Given the description of an element on the screen output the (x, y) to click on. 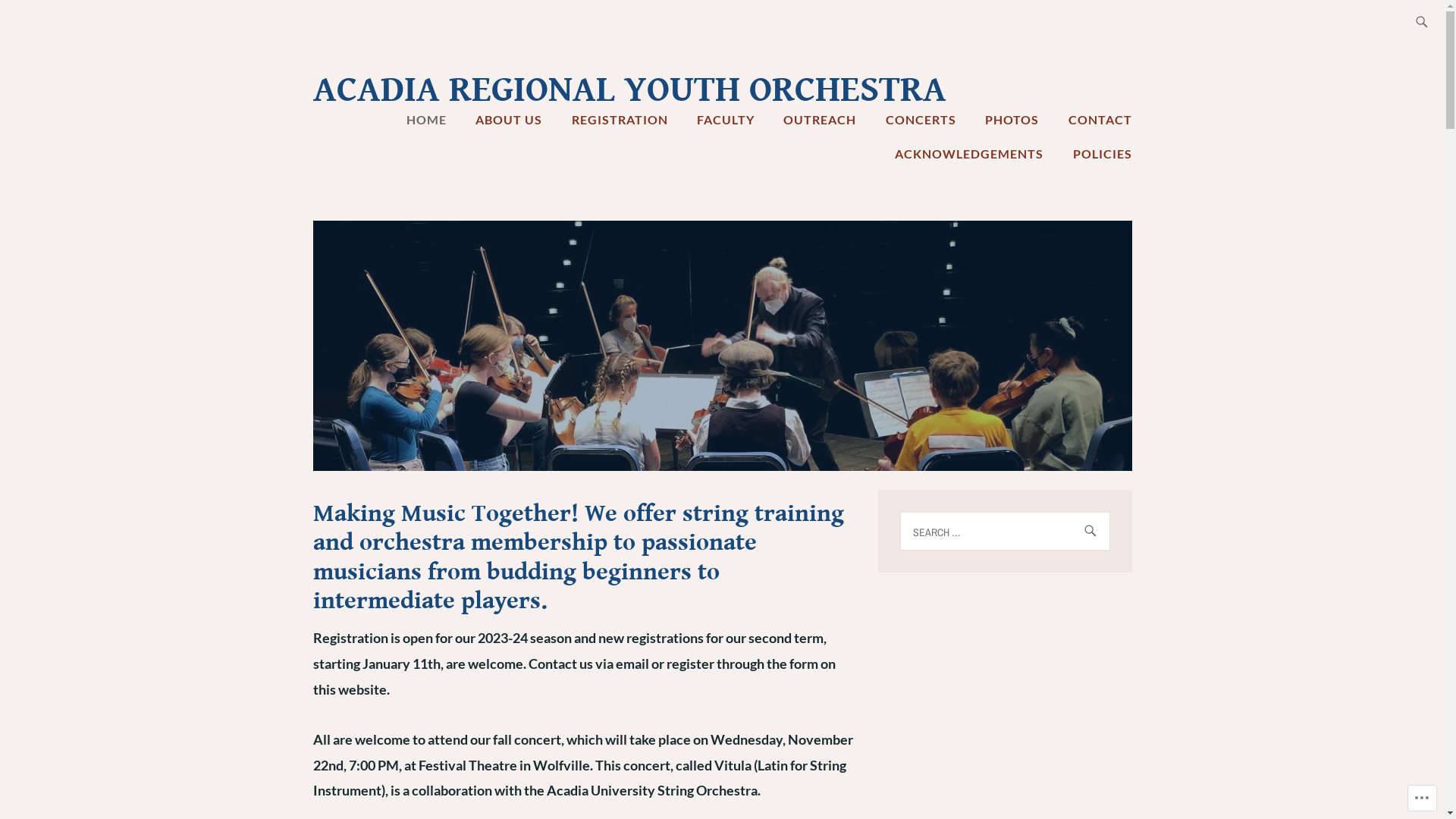
Search for: Element type: hover (1438, 23)
HOME Element type: text (426, 119)
OUTREACH Element type: text (819, 119)
Search for: Element type: hover (1004, 530)
PHOTOS Element type: text (1011, 119)
CONCERTS Element type: text (920, 119)
Search Element type: text (45, 21)
CONTACT Element type: text (1099, 119)
ACKNOWLEDGEMENTS Element type: text (968, 153)
POLICIES Element type: text (1101, 153)
ABOUT US Element type: text (508, 119)
REGISTRATION Element type: text (619, 119)
ACADIA REGIONAL YOUTH ORCHESTRA Element type: text (628, 90)
FACULTY Element type: text (725, 119)
